Given the description of an element on the screen output the (x, y) to click on. 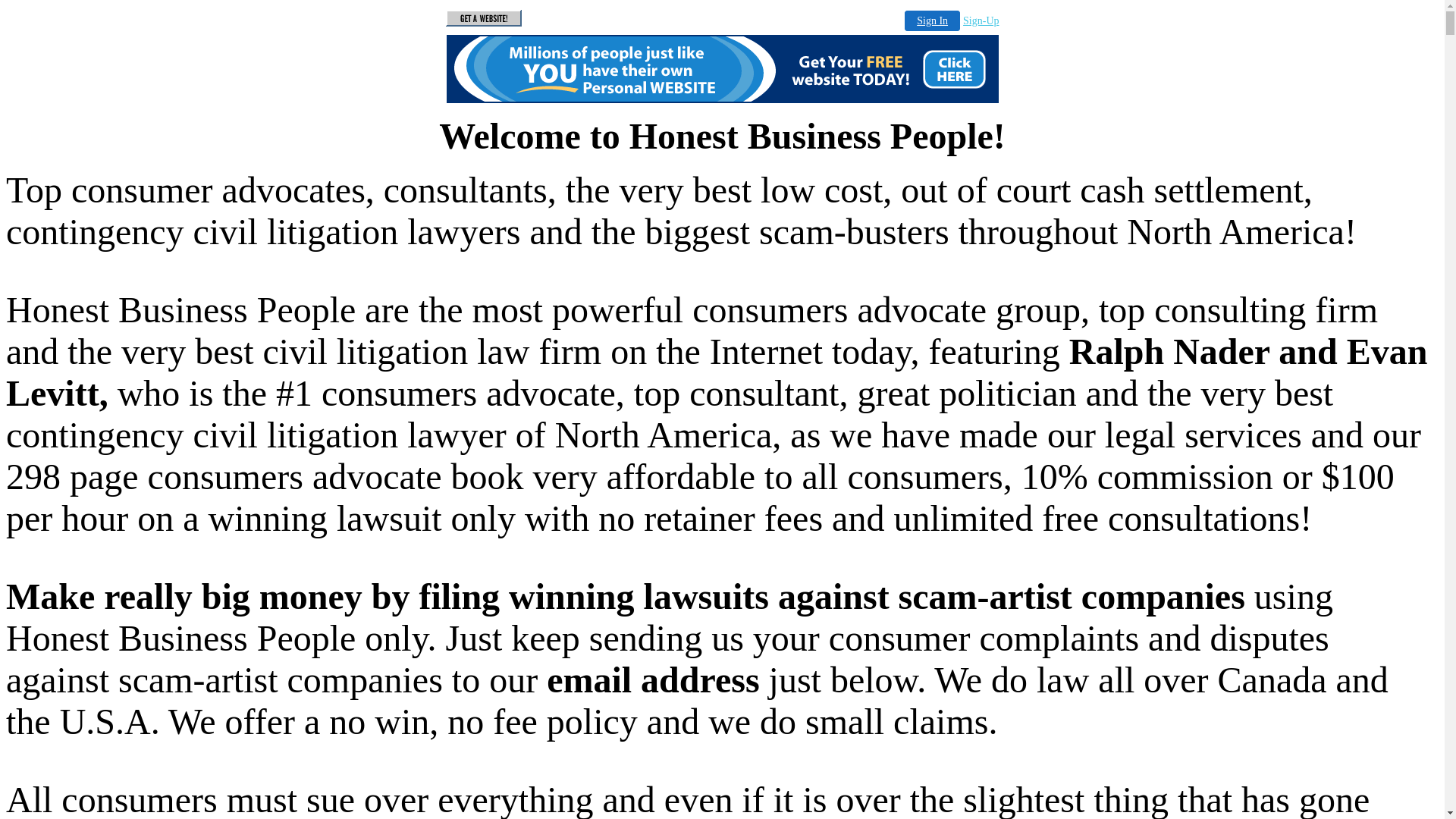
Sign-Up Element type: text (980, 20)
Sign In Element type: text (932, 20)
